Given the description of an element on the screen output the (x, y) to click on. 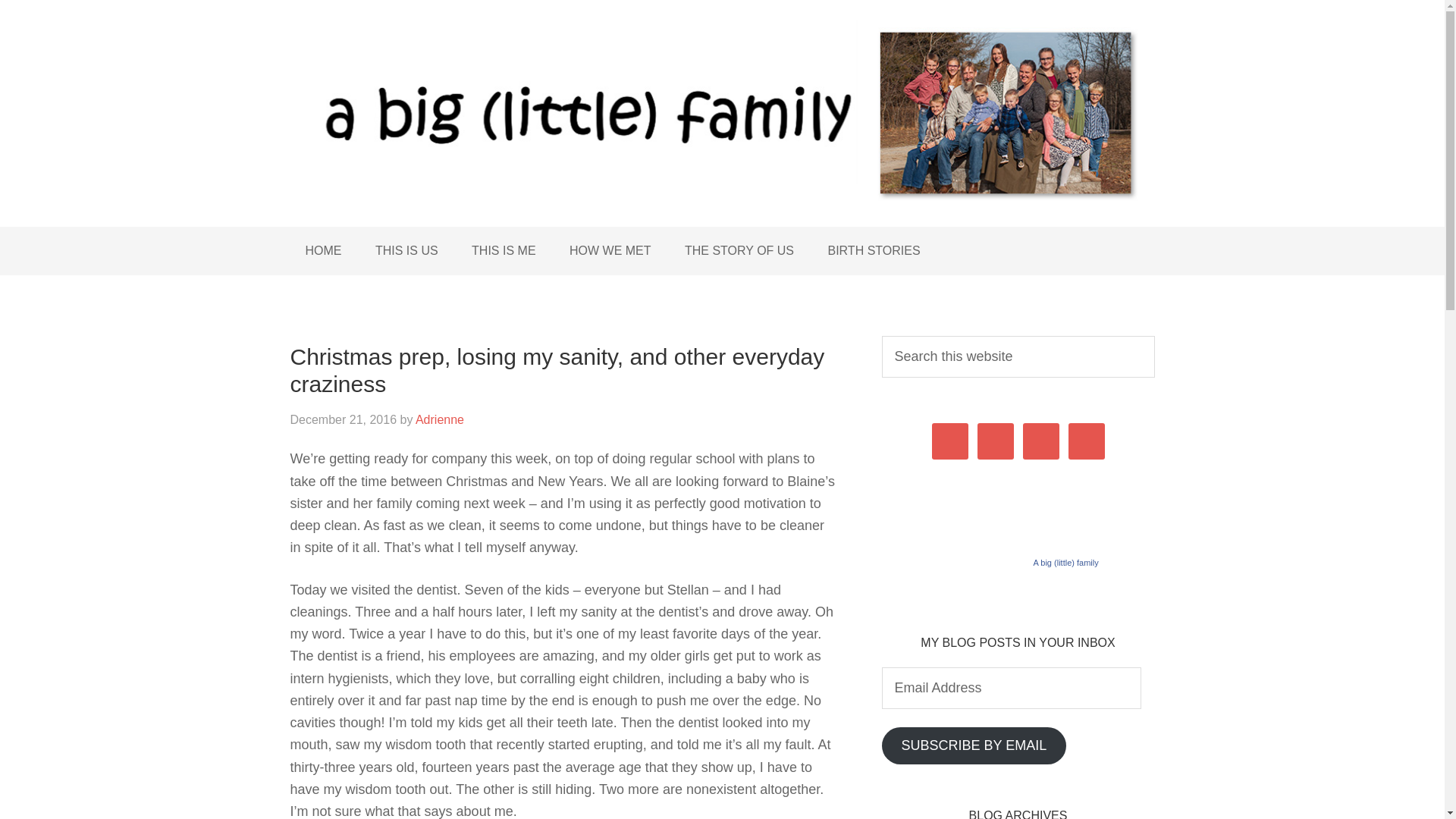
SUBSCRIBE BY EMAIL (972, 745)
HOME (322, 250)
Adrienne (439, 419)
THIS IS US (405, 250)
BIRTH STORIES (873, 250)
THIS IS ME (503, 250)
HOW WE MET (610, 250)
THE STORY OF US (739, 250)
